Given the description of an element on the screen output the (x, y) to click on. 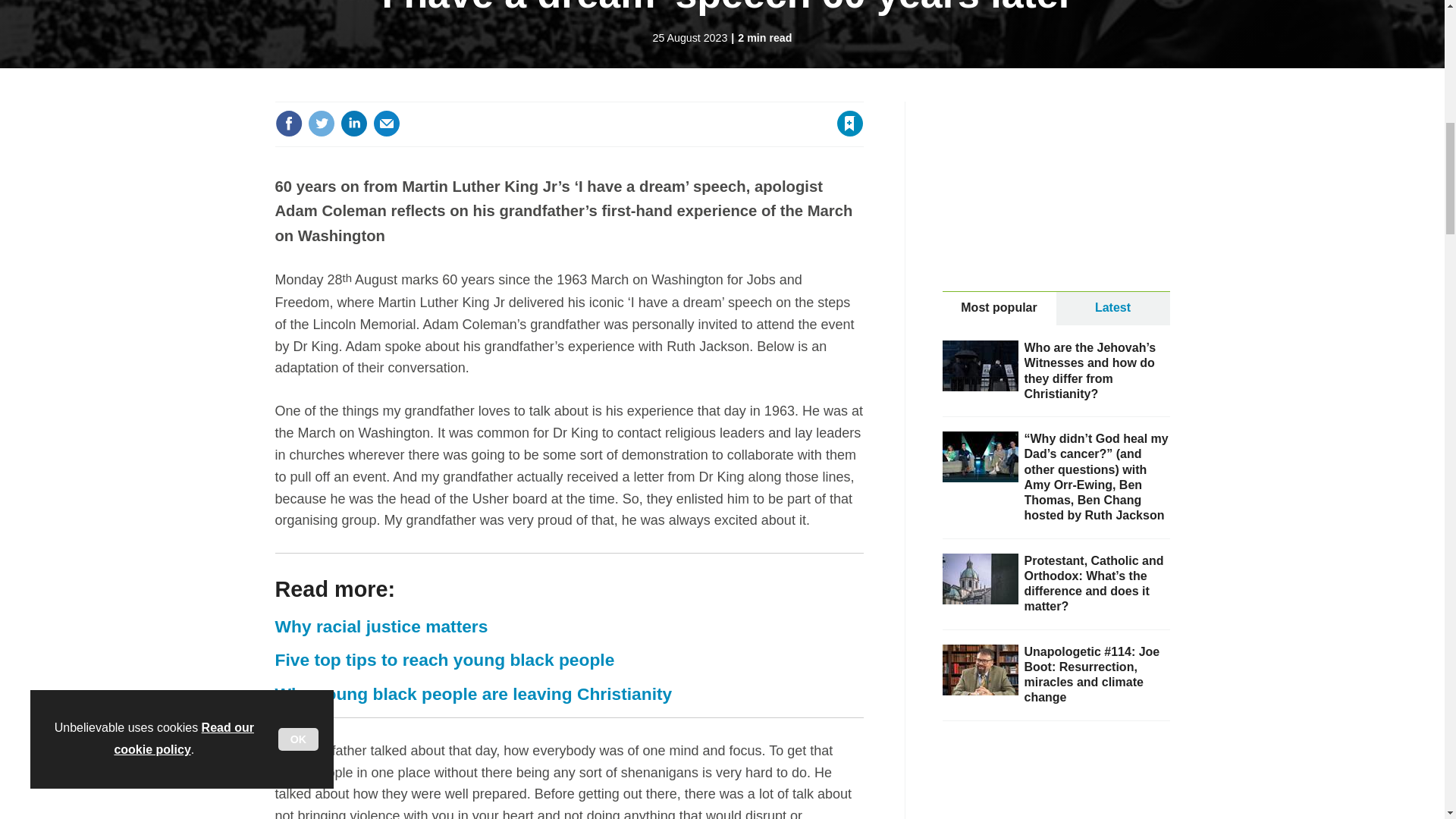
Email this article (386, 123)
Share this on Twitter (320, 123)
3rd party ad content (1055, 196)
3rd party ad content (1055, 787)
Share this on Facebook (288, 123)
Share this on Linked in (352, 123)
